Given the description of an element on the screen output the (x, y) to click on. 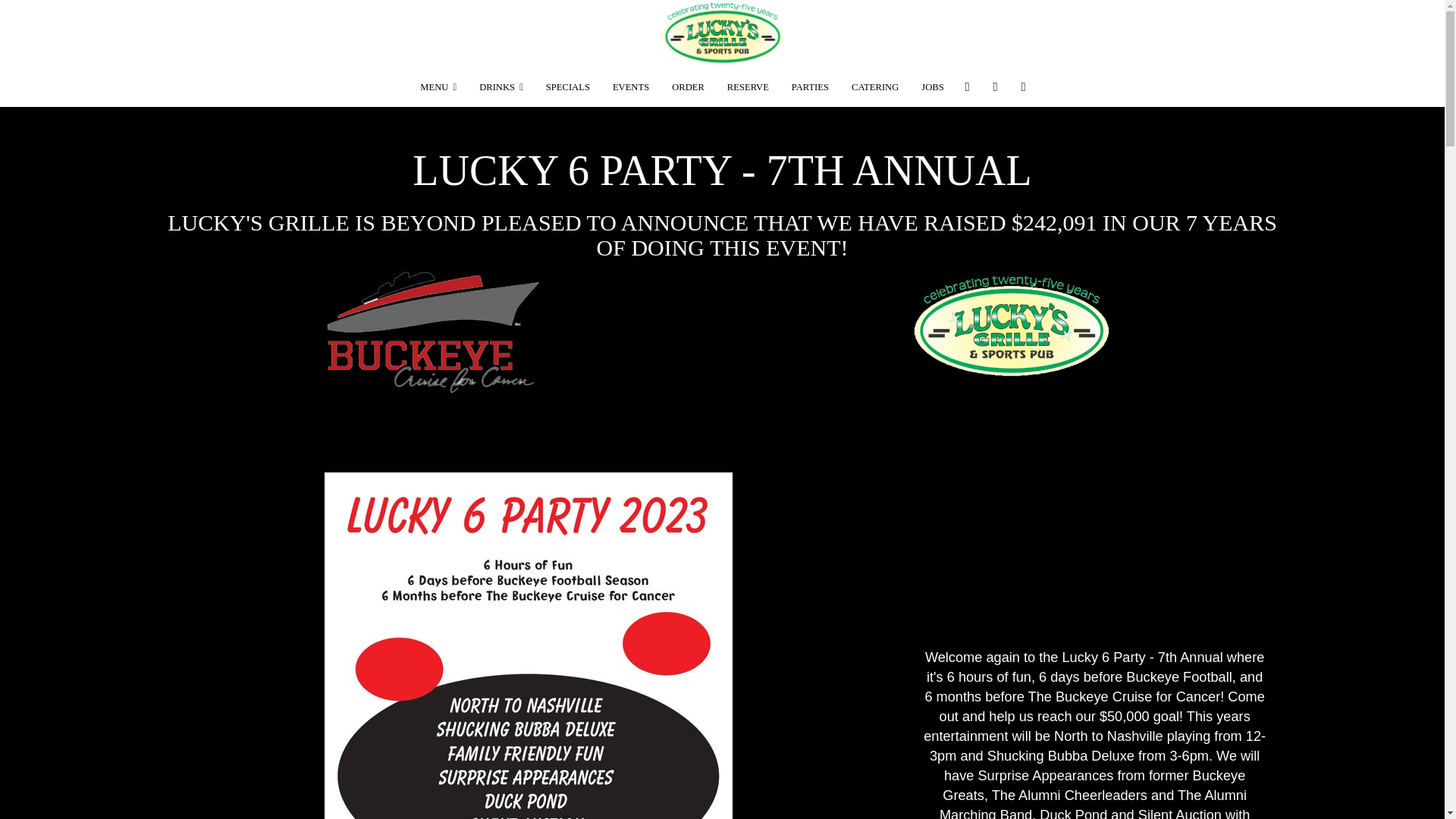
RESERVE (748, 87)
JOBS (932, 87)
DRINKS (500, 87)
ORDER (688, 87)
CATERING (875, 87)
PARTIES (810, 87)
MENU (438, 87)
EVENTS (631, 87)
SPECIALS (567, 87)
